Given the description of an element on the screen output the (x, y) to click on. 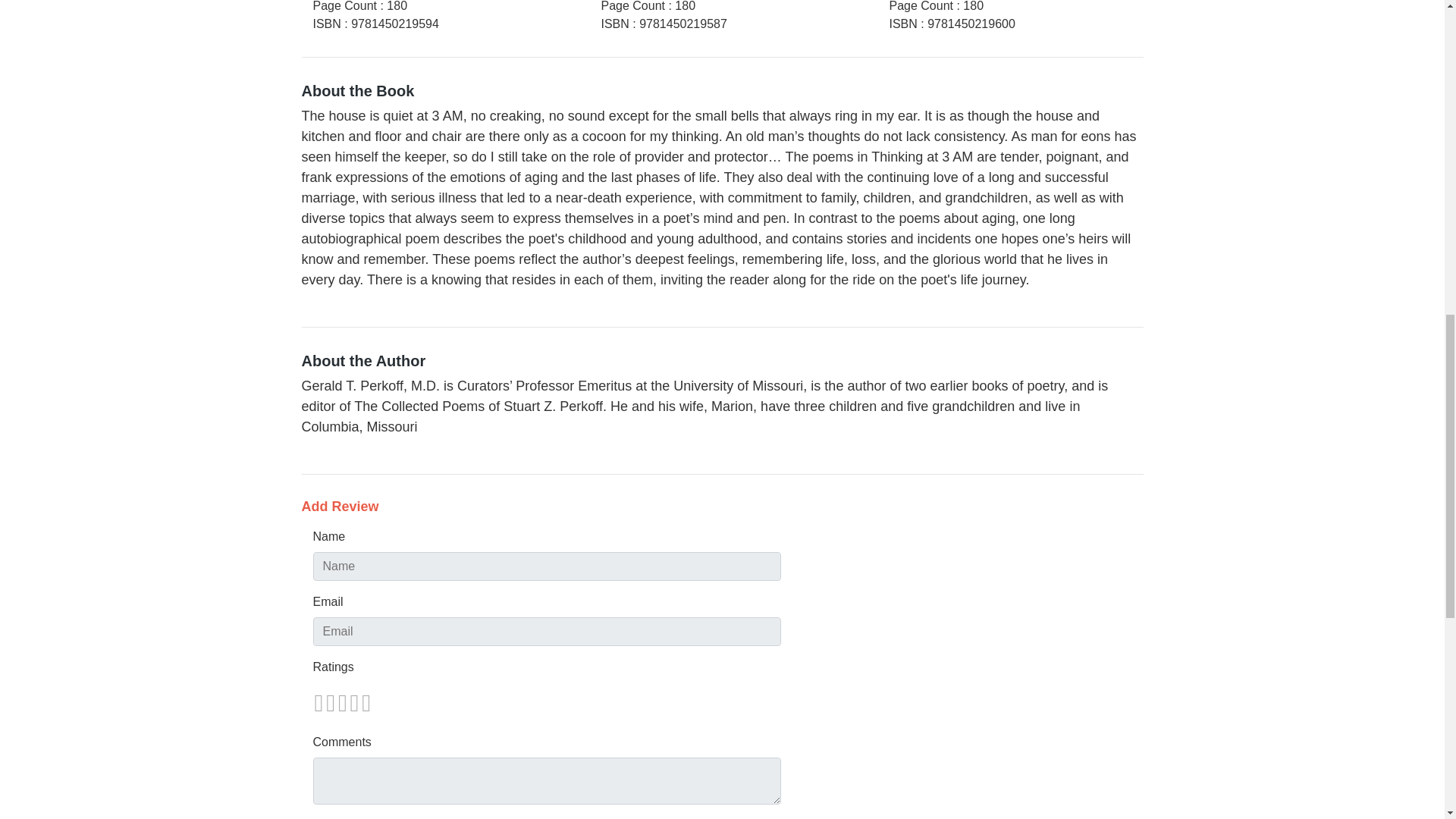
Not Rated (342, 702)
